Given the description of an element on the screen output the (x, y) to click on. 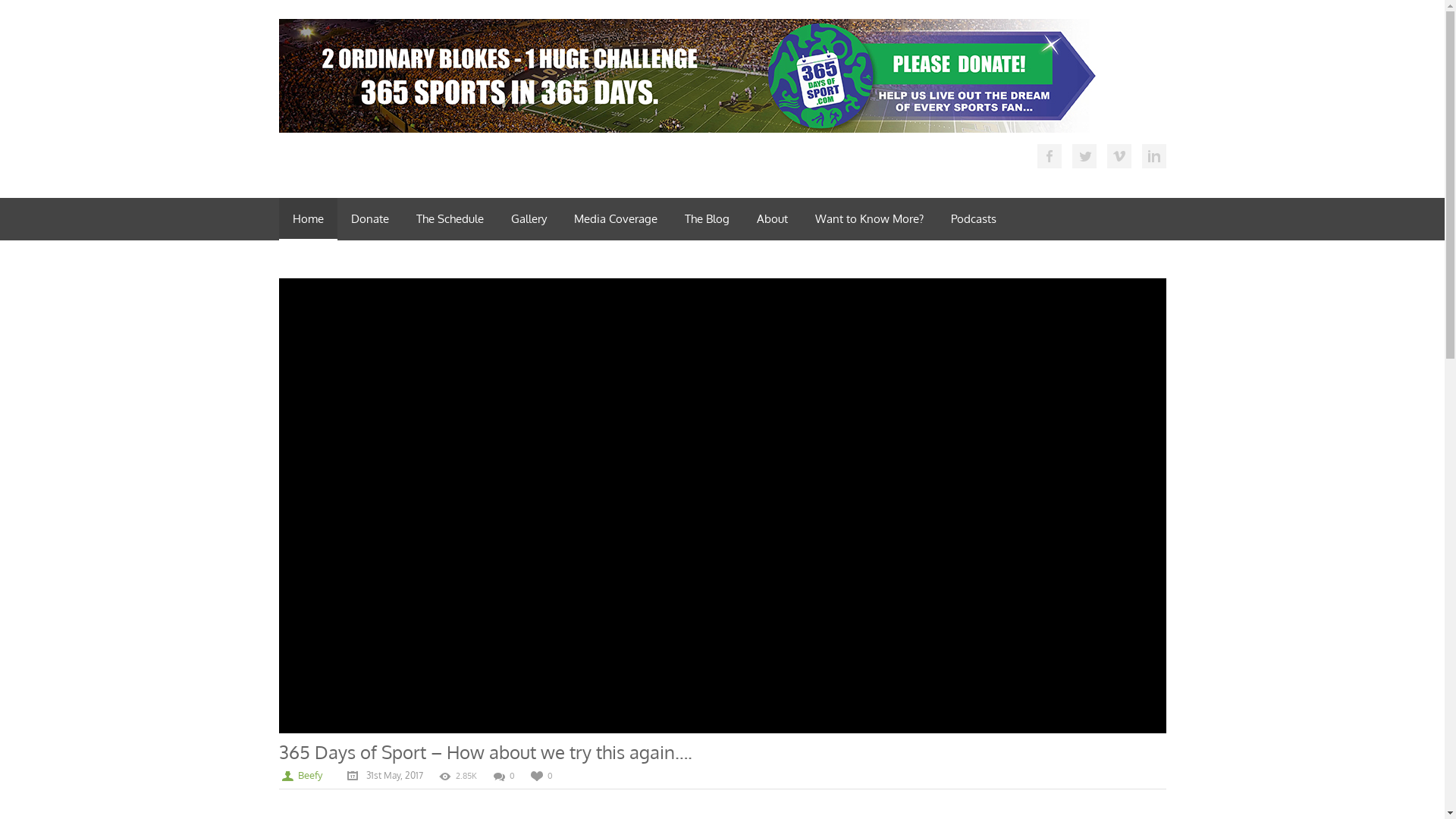
Beefy Element type: text (309, 774)
Become a fan on Facebook Element type: text (1049, 156)
Follow us on twitter Element type: text (1084, 156)
Beefy's Linked In Profile Element type: text (1154, 156)
Media Coverage Element type: text (614, 218)
Donate Element type: text (368, 218)
Gallery Element type: text (528, 218)
About Element type: text (772, 218)
Follow us on vimeo Element type: text (1119, 156)
Podcasts Element type: text (973, 218)
The Blog Element type: text (706, 218)
Home Element type: text (308, 218)
Want to Know More? Element type: text (868, 218)
The Schedule Element type: text (448, 218)
